Given the description of an element on the screen output the (x, y) to click on. 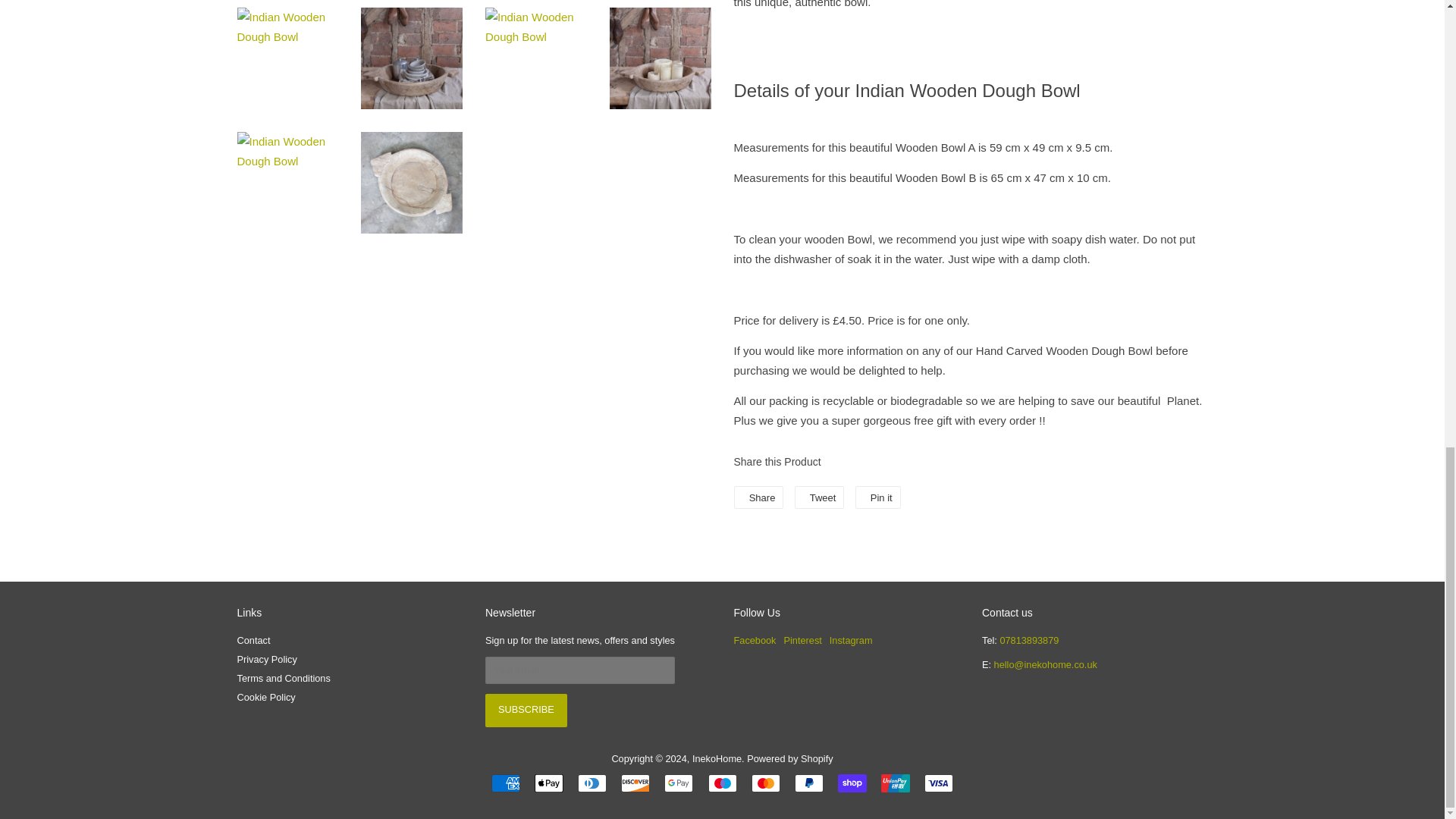
Mastercard (765, 782)
American Express (505, 782)
Share on Facebook (758, 497)
InekoHome on Facebook (754, 640)
Pin on Pinterest (878, 497)
Discover (635, 782)
Google Pay (678, 782)
PayPal (809, 782)
Shop Pay (852, 782)
Union Pay (895, 782)
Subscribe (525, 710)
Apple Pay (548, 782)
InekoHome on Instagram (850, 640)
InekoHome on Pinterest (803, 640)
Diners Club (592, 782)
